Given the description of an element on the screen output the (x, y) to click on. 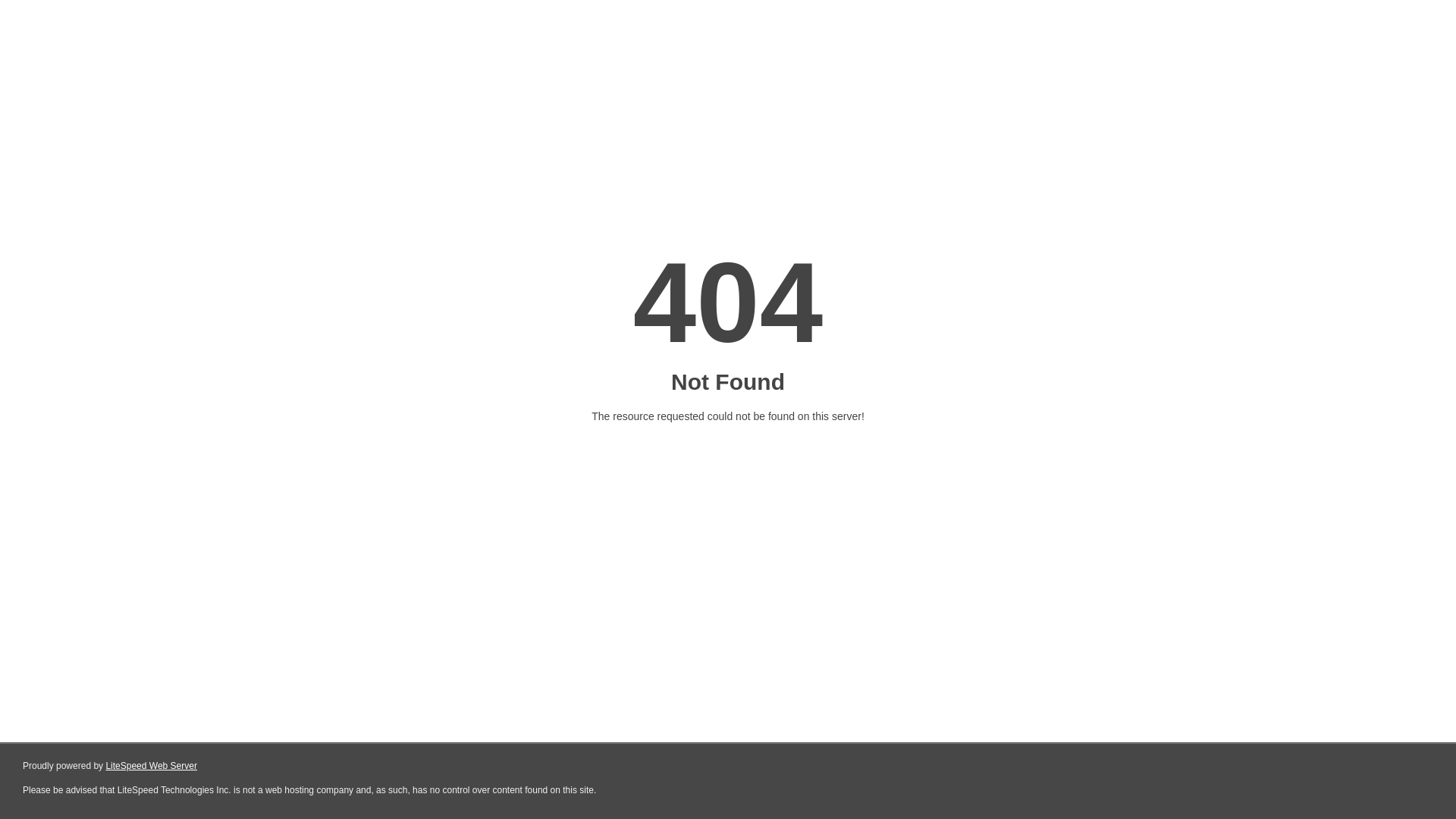
LiteSpeed Web Server Element type: text (151, 765)
